Given the description of an element on the screen output the (x, y) to click on. 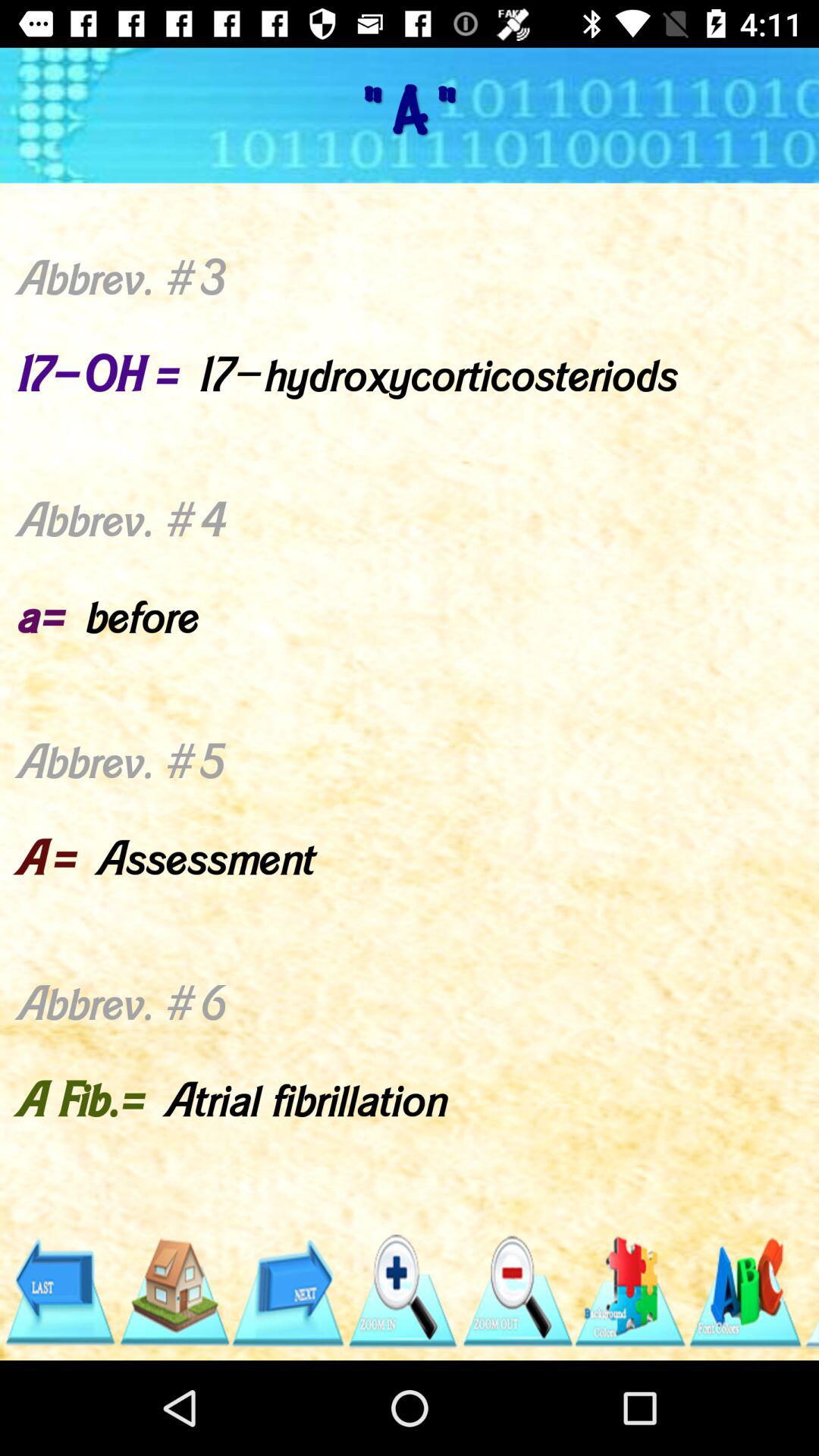
go to home screen (173, 1291)
